Given the description of an element on the screen output the (x, y) to click on. 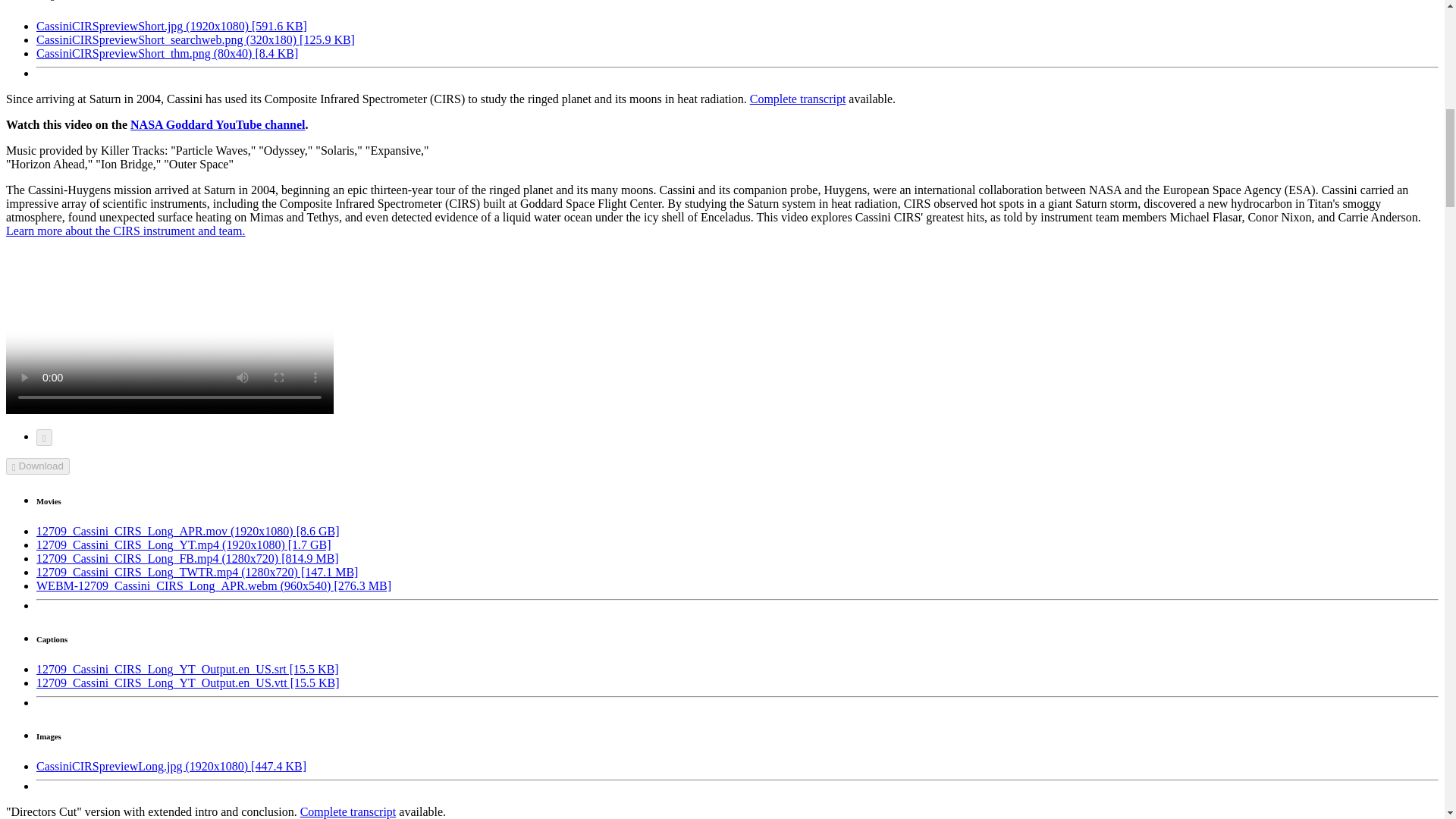
Copy a link to this media item (44, 437)
Download (37, 466)
Learn more about the CIRS instrument and team. (124, 230)
NASA Goddard YouTube channel (217, 124)
Complete transcript (797, 98)
